Given the description of an element on the screen output the (x, y) to click on. 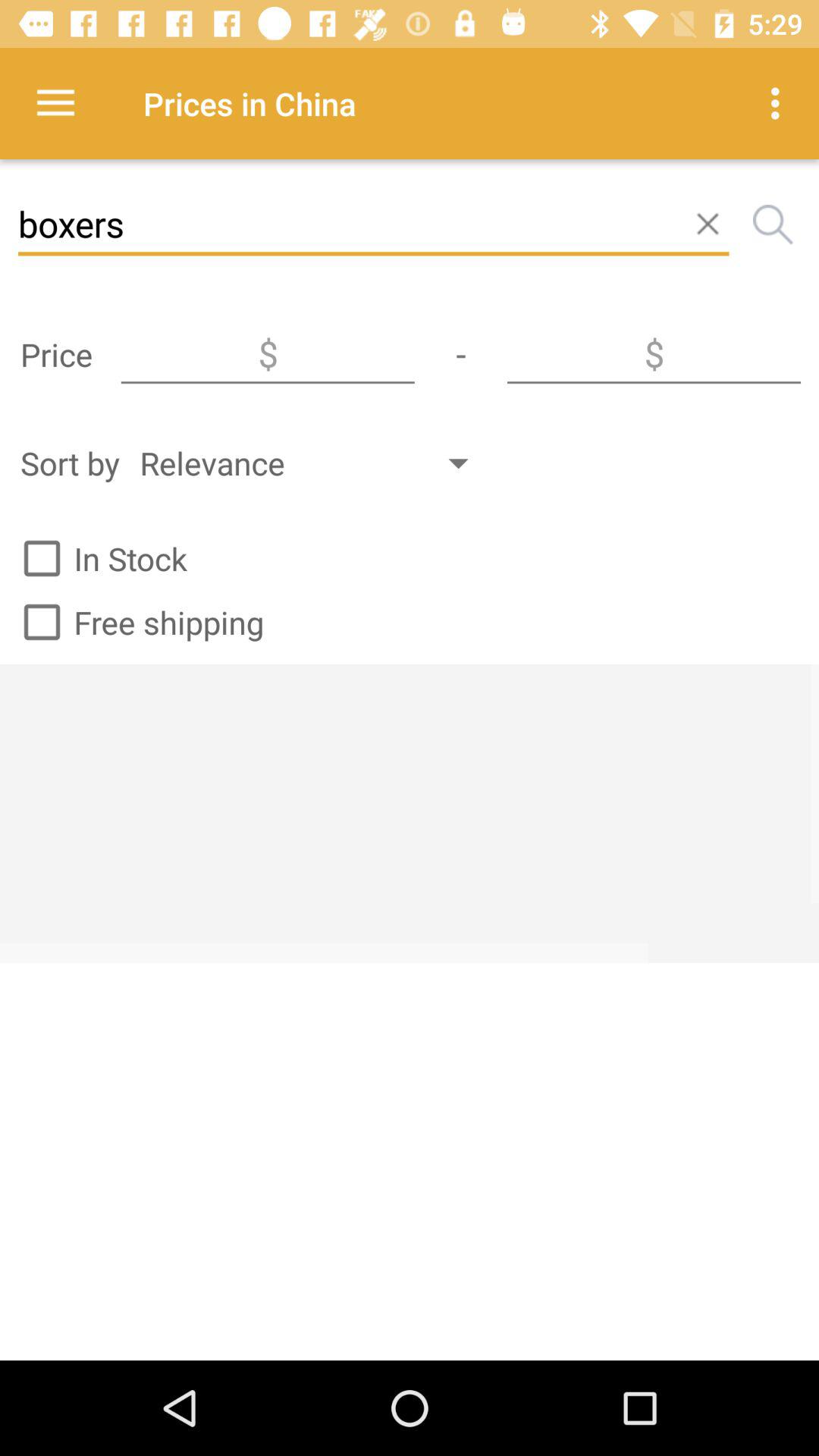
launch the icon to the right of price (267, 354)
